Given the description of an element on the screen output the (x, y) to click on. 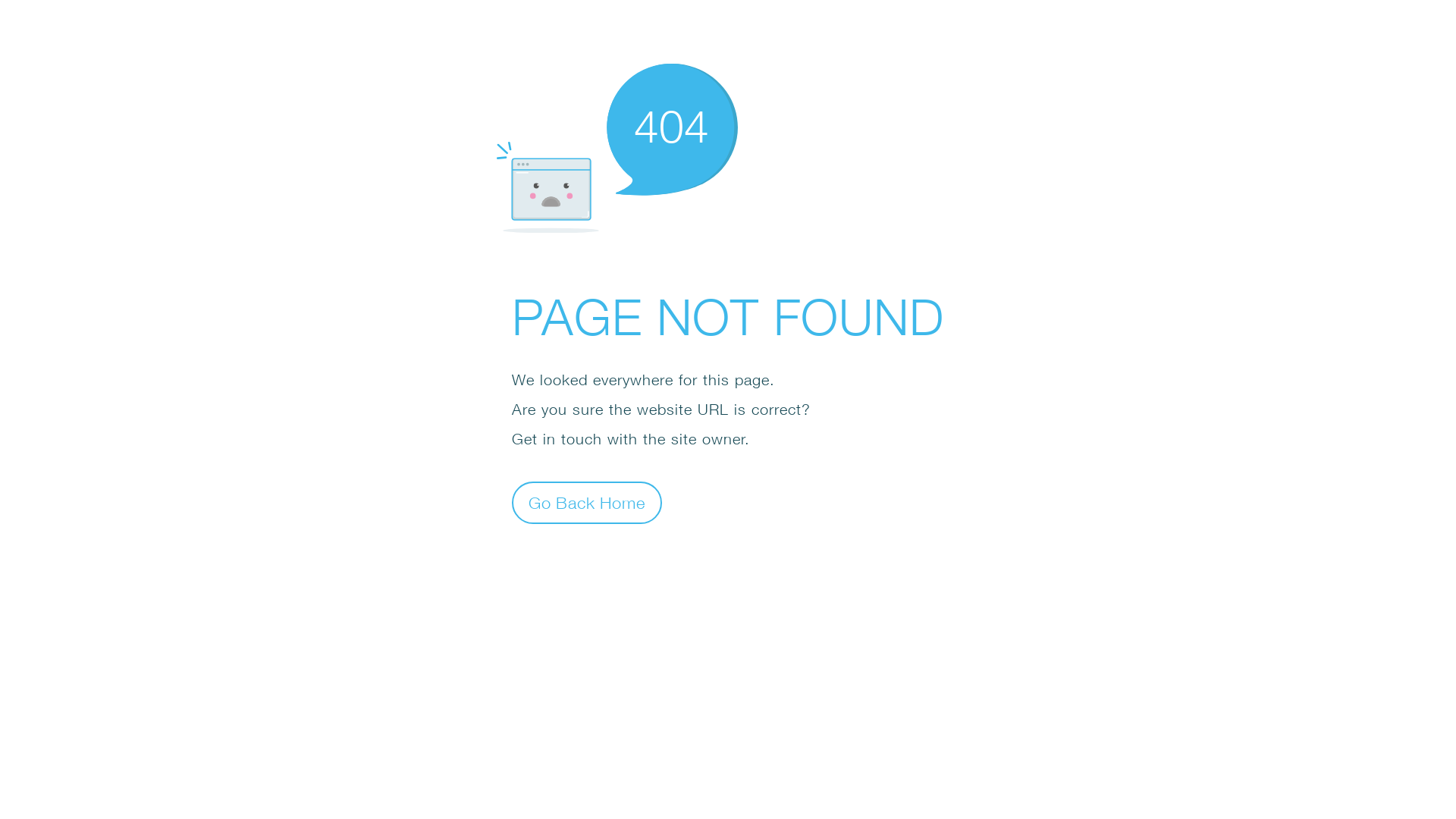
Go Back Home Element type: text (586, 502)
